Given the description of an element on the screen output the (x, y) to click on. 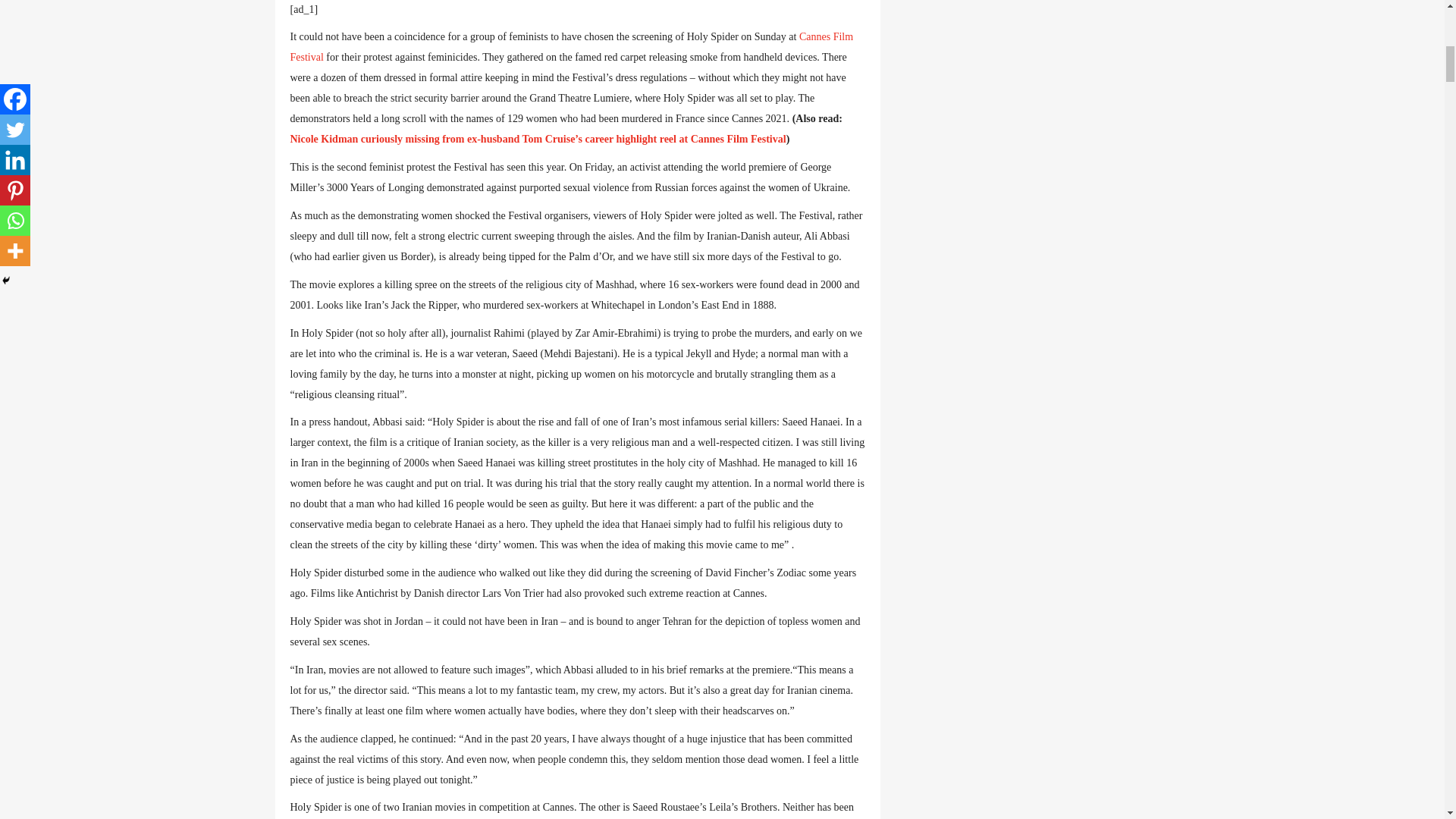
Cannes Film Festival (571, 47)
